Given the description of an element on the screen output the (x, y) to click on. 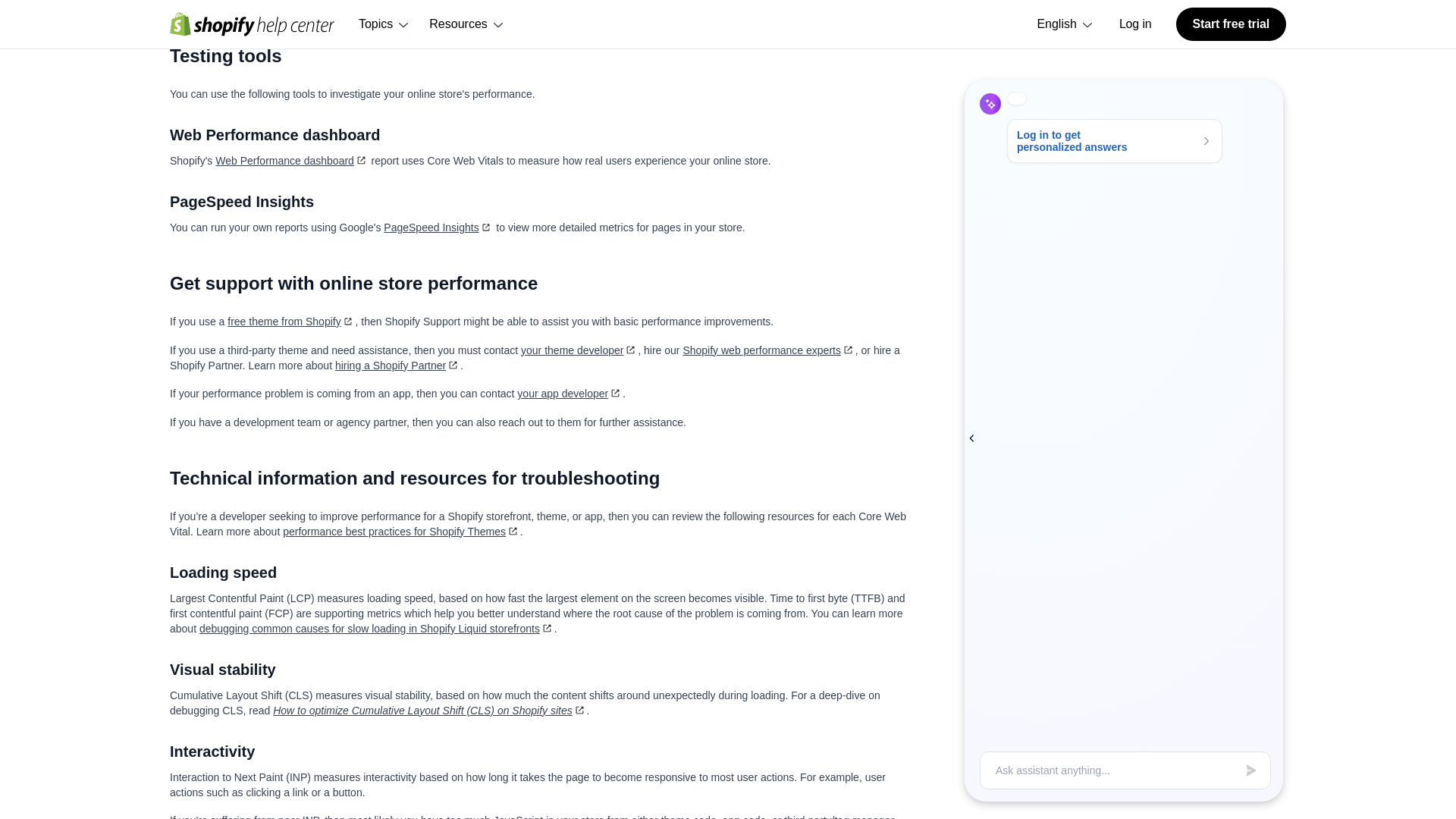
performance best practices for Shopify Themes (400, 530)
PageSpeed Insights (438, 227)
best practices for tags and tag managers (688, 2)
your app developer (569, 393)
your theme developer (579, 349)
Web Performance dashboard (291, 160)
hiring a Shopify Partner (397, 365)
free theme from Shopify (291, 321)
Shopify web performance experts (768, 349)
